Given the description of an element on the screen output the (x, y) to click on. 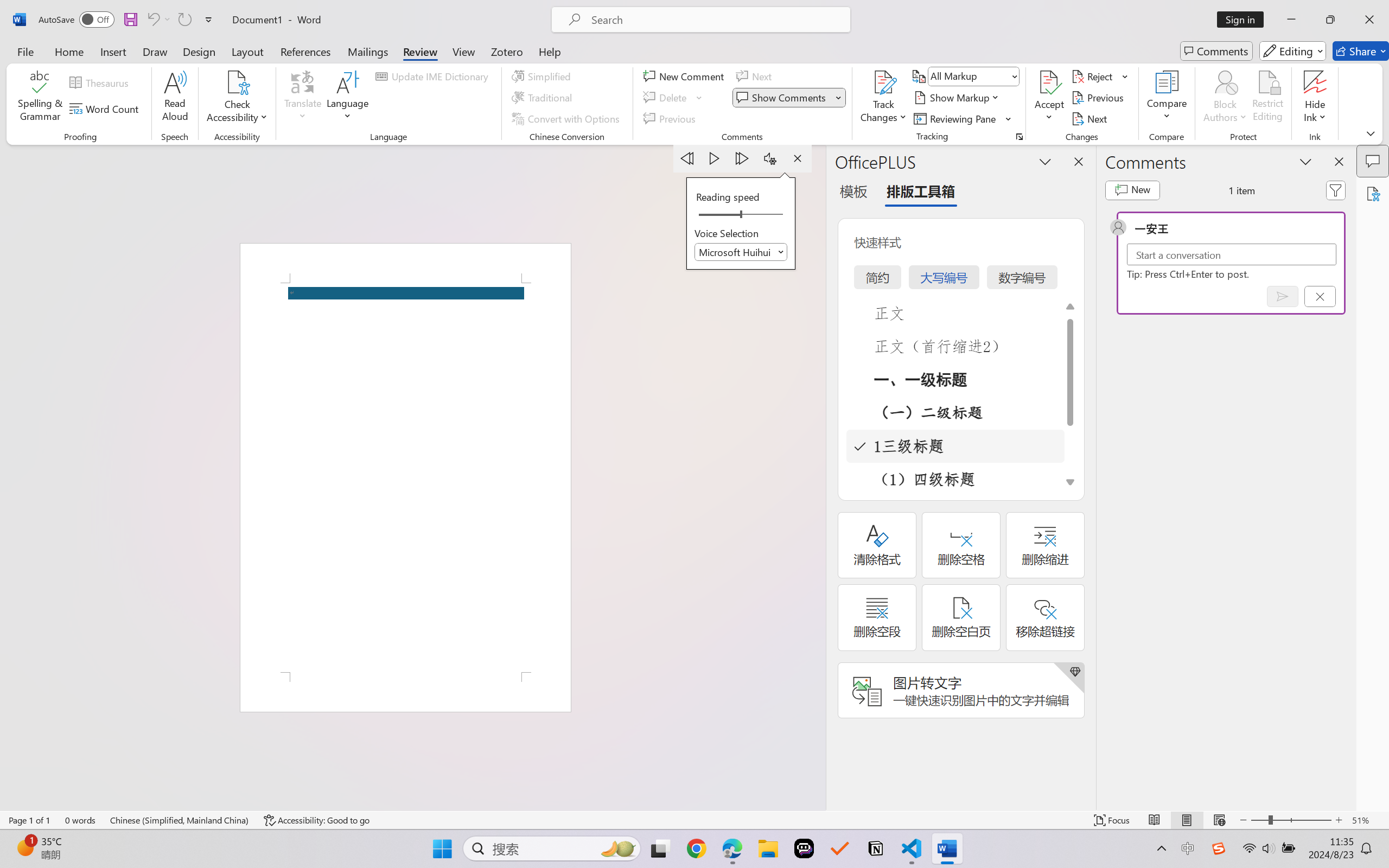
Language Chinese (Simplified, Mainland China) (179, 819)
Simplified (542, 75)
Sign in (1244, 19)
Restrict Editing (1267, 97)
Delete (673, 97)
Undo Apply Quick Style Set (152, 19)
Page right (765, 214)
